Given the description of an element on the screen output the (x, y) to click on. 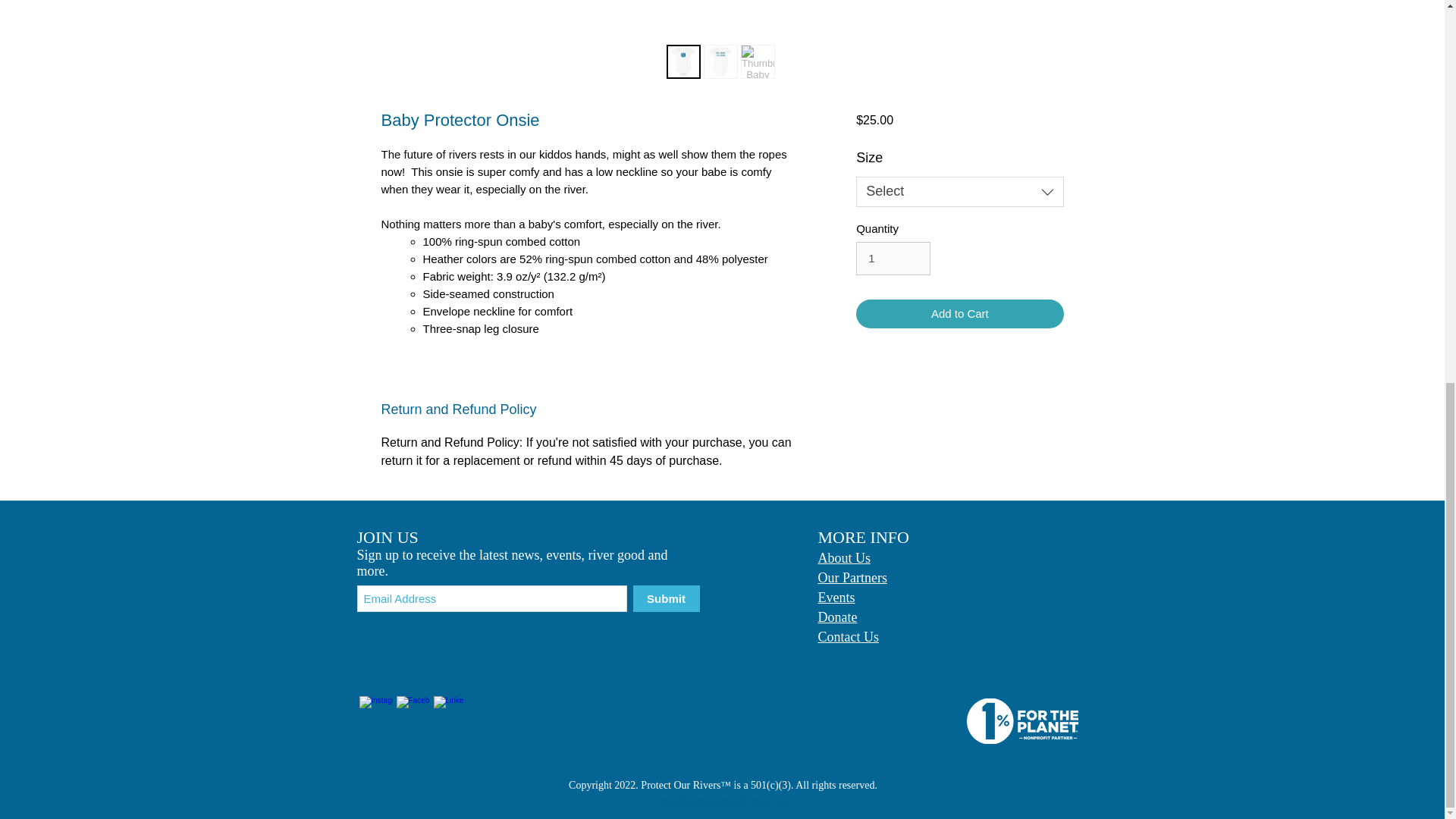
Add to Cart (959, 314)
Contact Us (847, 636)
Our Partners (851, 576)
Events (835, 596)
Select (959, 191)
1 (893, 258)
Donate (836, 615)
Submit (664, 598)
About Us (843, 556)
